Given the description of an element on the screen output the (x, y) to click on. 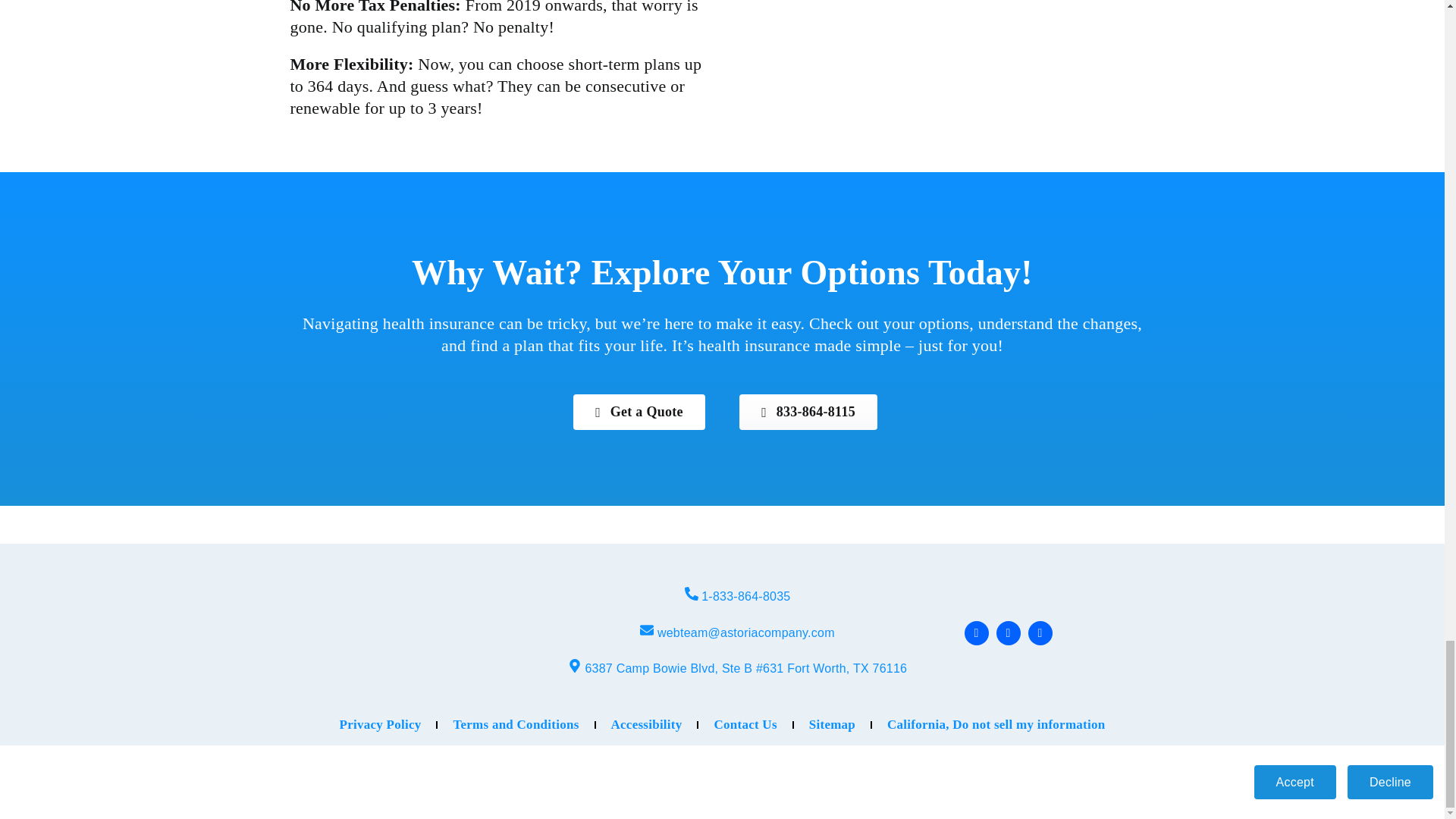
aetna-mental-health-coverage-scaled-1 (946, 51)
